Given the description of an element on the screen output the (x, y) to click on. 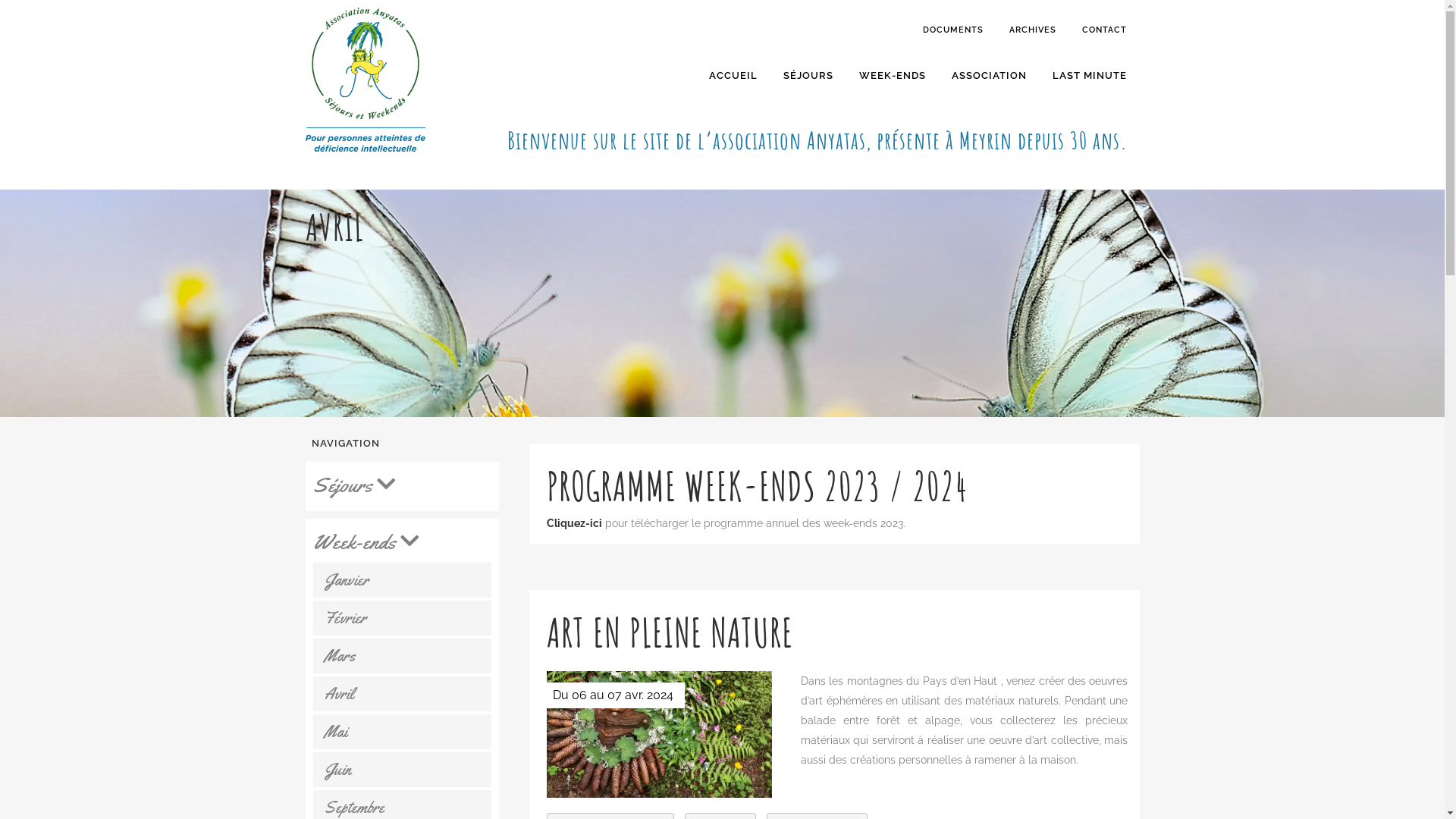
ASSOCIATION Element type: text (988, 75)
janvier Element type: text (402, 580)
LAST MINUTE Element type: text (1088, 75)
mai Element type: text (402, 731)
Avril Element type: text (402, 693)
DOCUMENTS Element type: text (953, 30)
CONTACT Element type: text (1104, 30)
Cliquez-ici Element type: text (573, 523)
mars Element type: text (402, 655)
juin Element type: text (402, 769)
ARCHIVES Element type: text (1032, 30)
ACCUEIL Element type: text (733, 75)
WEEK-ENDS Element type: text (892, 75)
Week-ends Element type: text (405, 541)
